Given the description of an element on the screen output the (x, y) to click on. 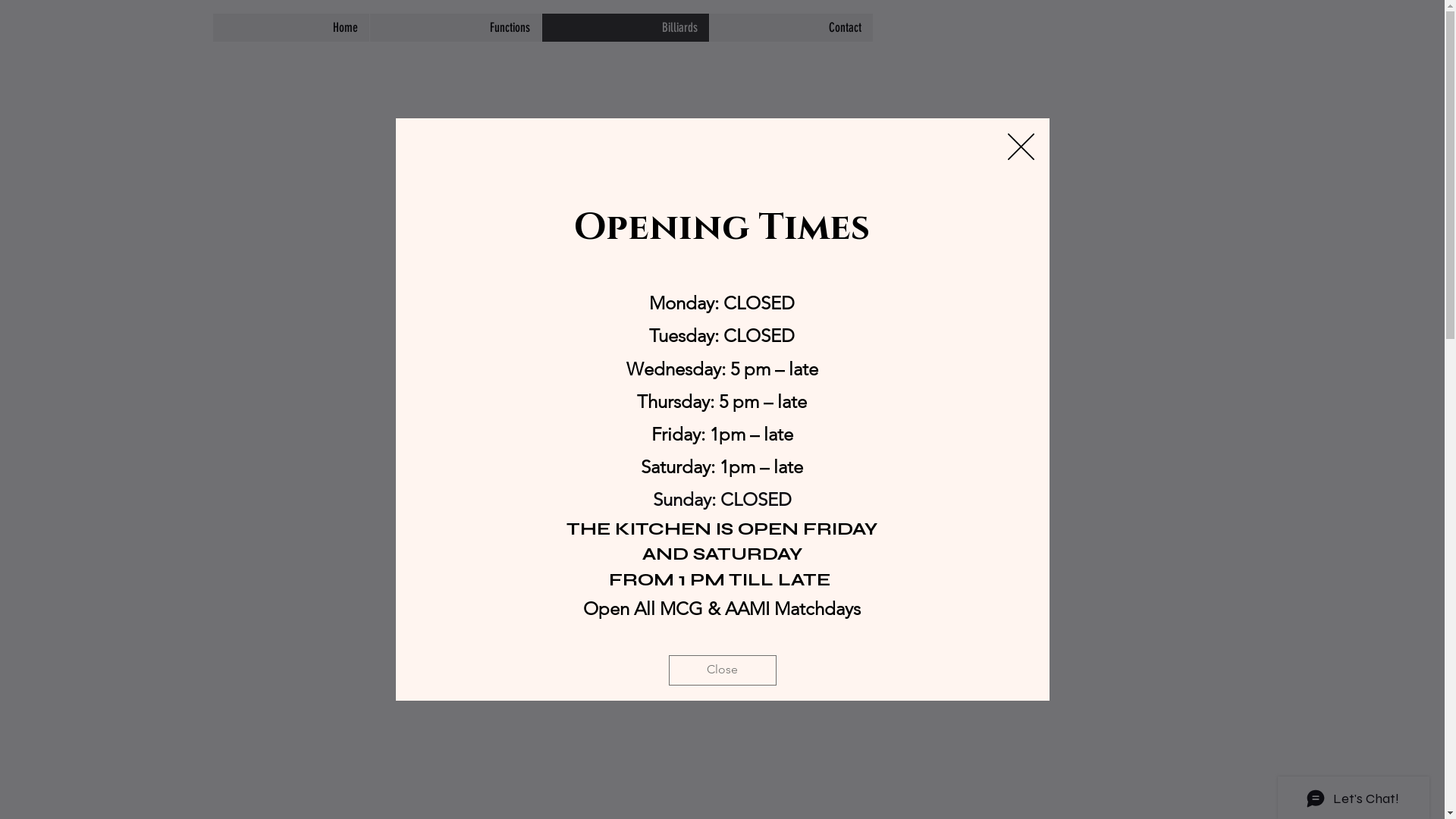
Back to site Element type: hover (1020, 146)
Home Element type: text (291, 27)
Contact Element type: text (790, 27)
Billiards Element type: text (625, 27)
Functions Element type: text (455, 27)
